Given the description of an element on the screen output the (x, y) to click on. 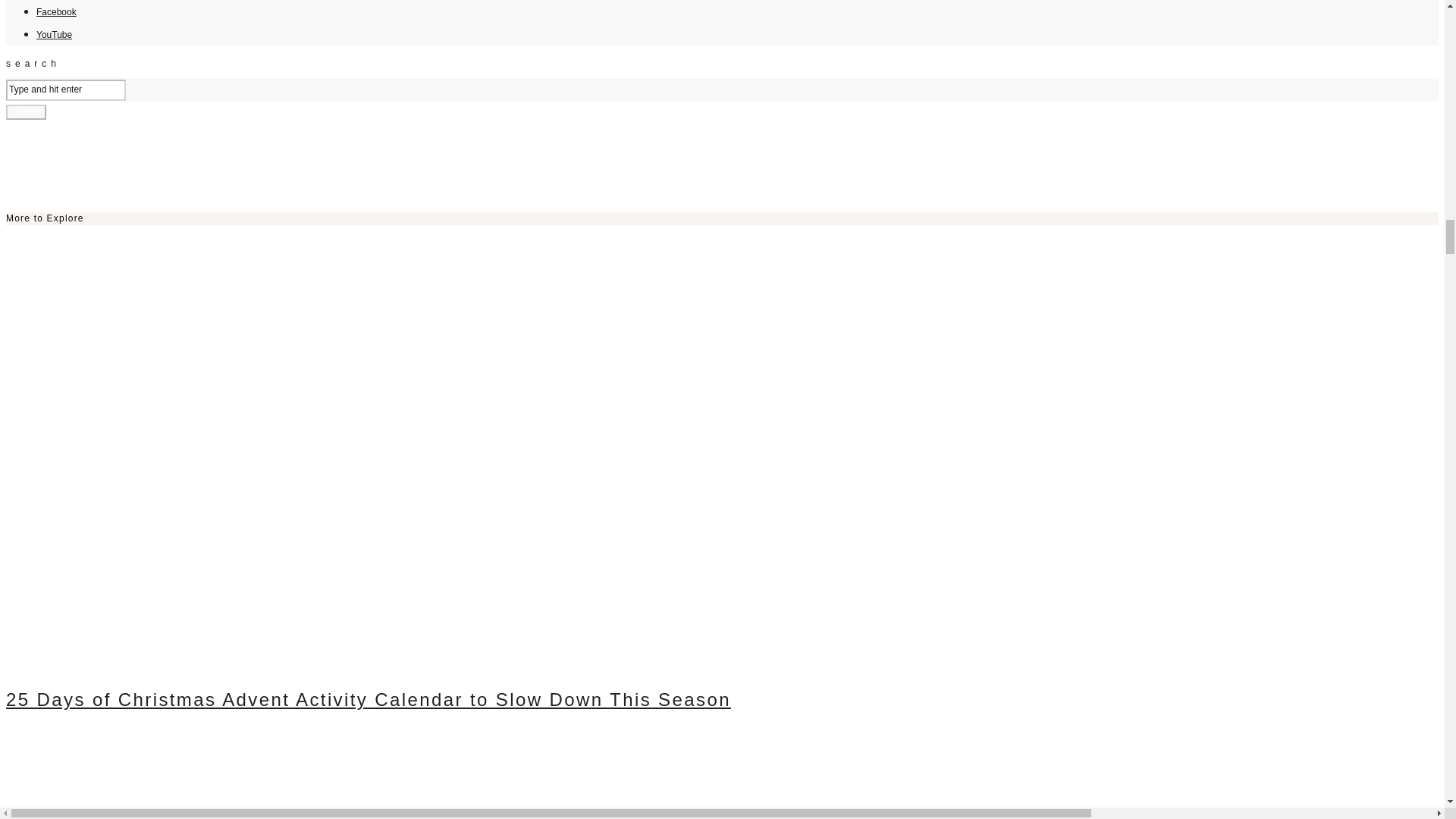
Type and hit enter (65, 89)
Type and hit enter (65, 89)
